Given the description of an element on the screen output the (x, y) to click on. 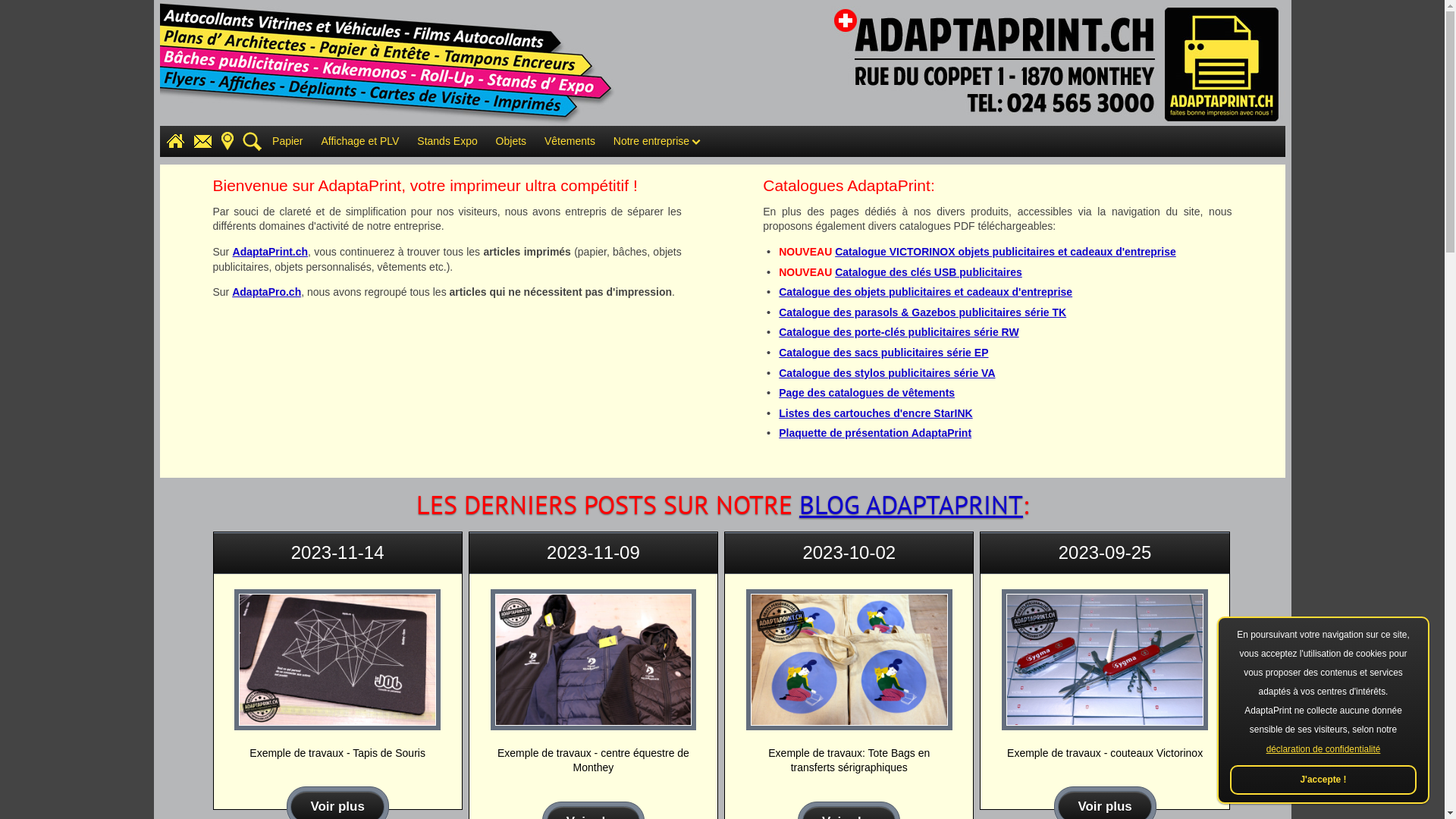
AdaptaPrint.ch Element type: text (270, 251)
Stands Expo Element type: text (446, 140)
Catalogue des objets publicitaires et cadeaux d'entreprise Element type: text (925, 291)
BLOG ADAPTAPRINT Element type: text (910, 504)
Exemple de travaux - couteaux Victorinox Element type: hover (1104, 659)
Affichage et PLV Element type: text (359, 140)
Nous trouver sur Google Maps Element type: hover (224, 140)
AdaptaPro.ch Element type: text (266, 291)
Papier Element type: text (287, 140)
Notre entreprise Element type: text (657, 140)
Recherche sur le site Element type: hover (248, 140)
Nous contacter Element type: hover (199, 140)
Objets Element type: text (510, 140)
J'accepte ! Element type: text (1323, 779)
Listes des cartouches d'encre StarINK Element type: text (875, 413)
Exemple de travaux - Tapis de Souris Element type: hover (337, 659)
